Given the description of an element on the screen output the (x, y) to click on. 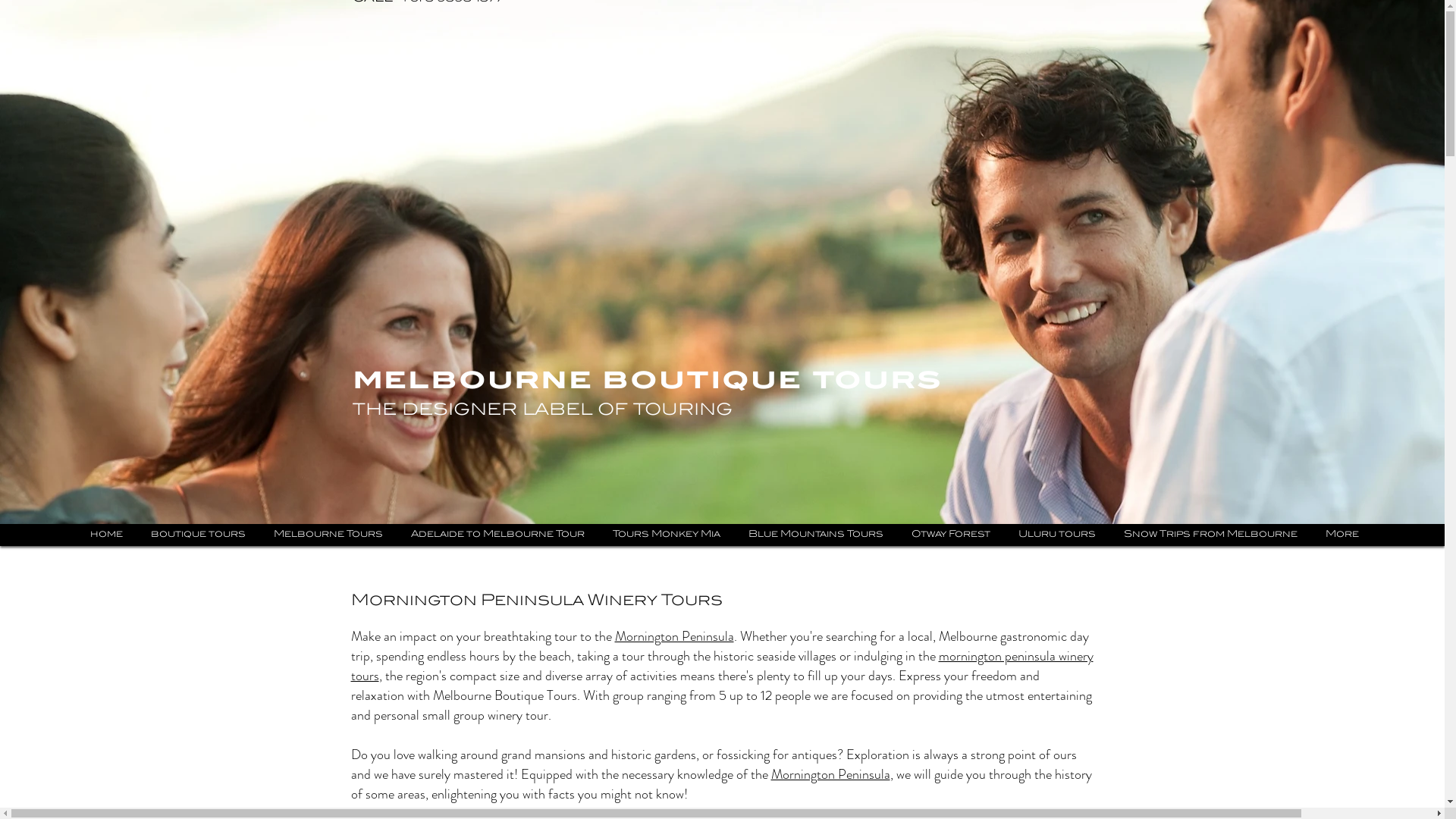
Melbourne Tours Element type: text (327, 534)
home Element type: text (105, 534)
Mornington Peninsula Element type: text (829, 774)
Blue Mountains Tours Element type: text (814, 534)
mornington peninsula winery tours Element type: text (721, 665)
Uluru tours Element type: text (1056, 534)
Mornington Peninsula Element type: text (673, 636)
Tours Monkey Mia Element type: text (666, 534)
Otway Forest Element type: text (950, 534)
Adelaide to Melbourne Tour Element type: text (497, 534)
Snow Trips from Melbourne Element type: text (1210, 534)
